Given the description of an element on the screen output the (x, y) to click on. 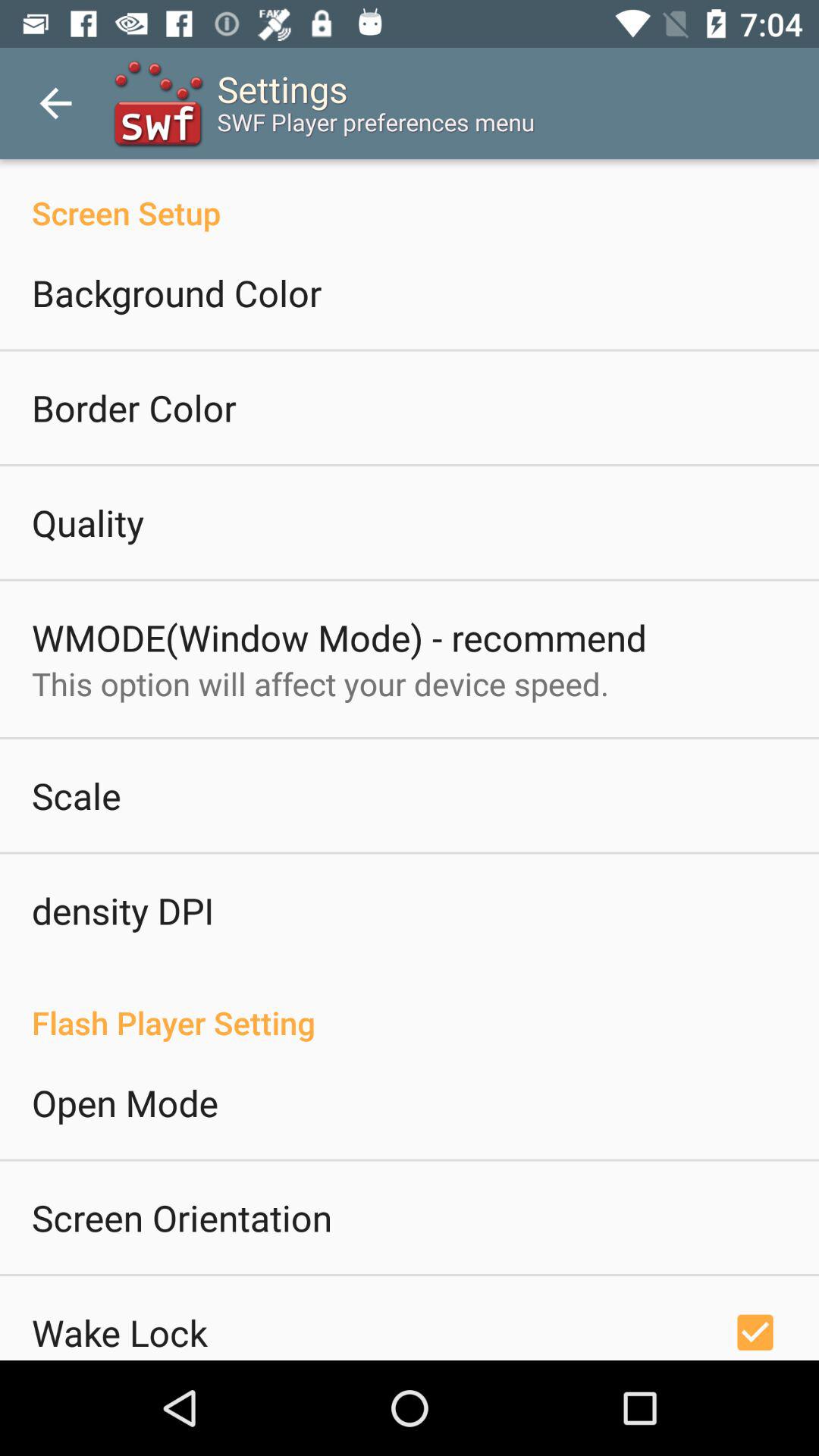
select icon above the border color (176, 292)
